Given the description of an element on the screen output the (x, y) to click on. 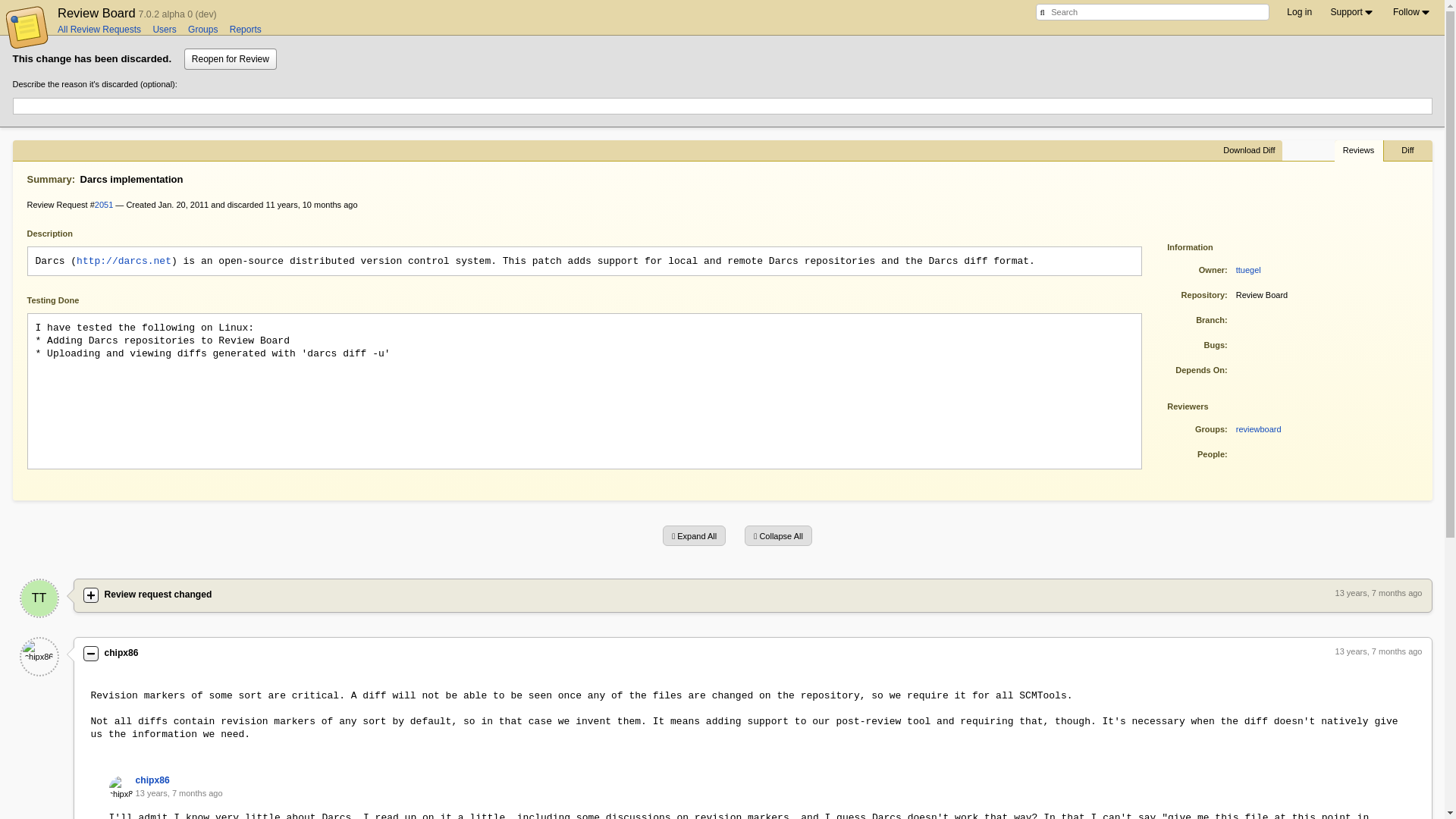
Follow (1412, 12)
Sept. 28, 2012, 1:29 p.m. (310, 204)
Review Board (96, 12)
Reports (246, 29)
Support (1352, 12)
Users (164, 29)
Reopen for Review (230, 58)
ttuegel (39, 597)
All Review Requests (99, 29)
Log in (1299, 12)
